Given the description of an element on the screen output the (x, y) to click on. 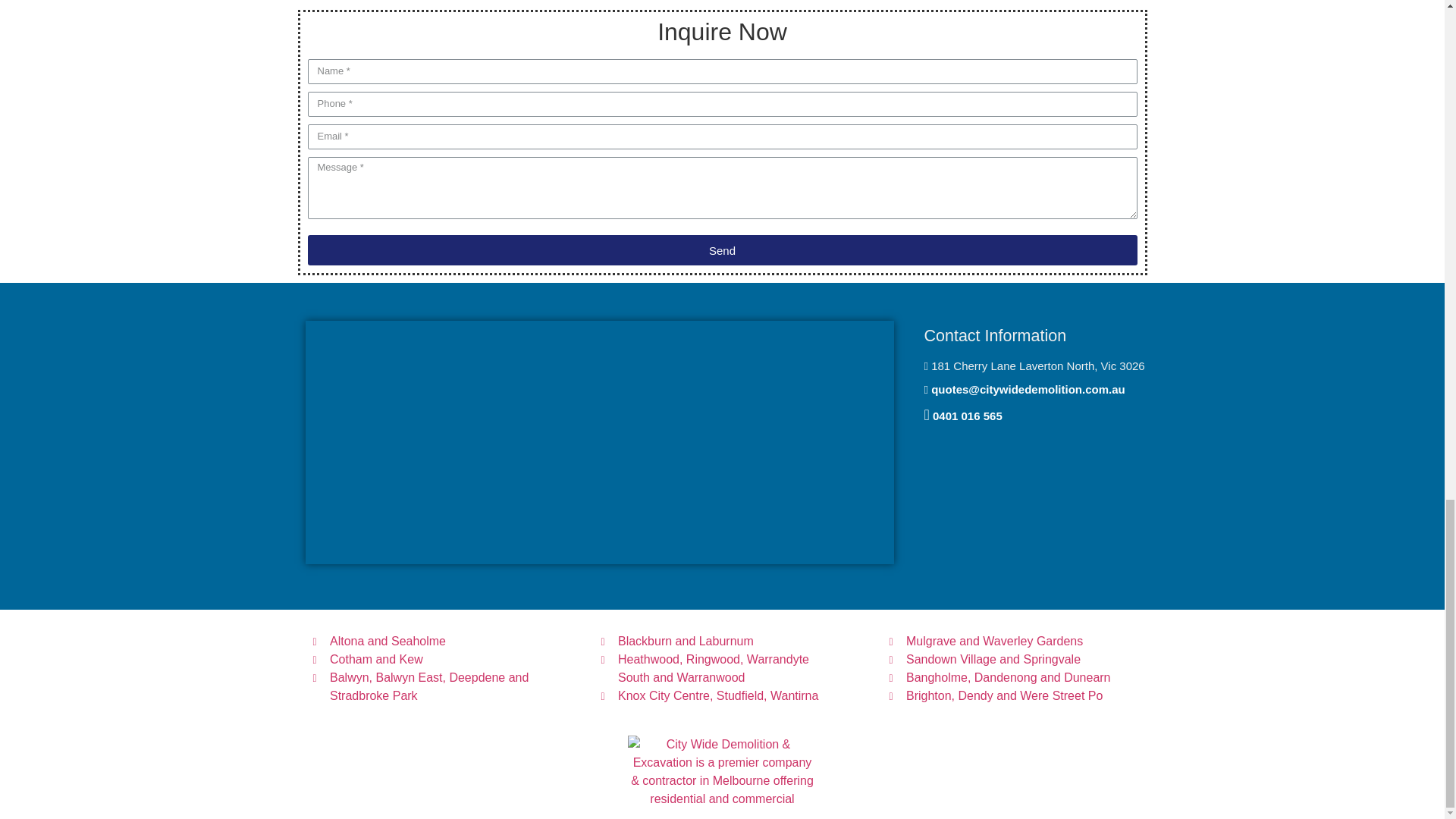
Heathwood, Ringwood, Warrandyte South and Warranwood (721, 668)
0401 016 565 (968, 415)
Blackburn and Laburnum (721, 641)
Mulgrave and Waverley Gardens (1009, 641)
Altona and Seaholme (433, 641)
Sandown Village and Springvale (1009, 659)
Balwyn, Balwyn East, Deepdene and Stradbroke Park (433, 687)
Brighton, Dendy and Were Street Po (1009, 696)
Cotham and Kew (433, 659)
Send (722, 250)
Knox City Centre, Studfield, Wantirna (721, 696)
Bangholme, Dandenong and Dunearn (1009, 678)
